Given the description of an element on the screen output the (x, y) to click on. 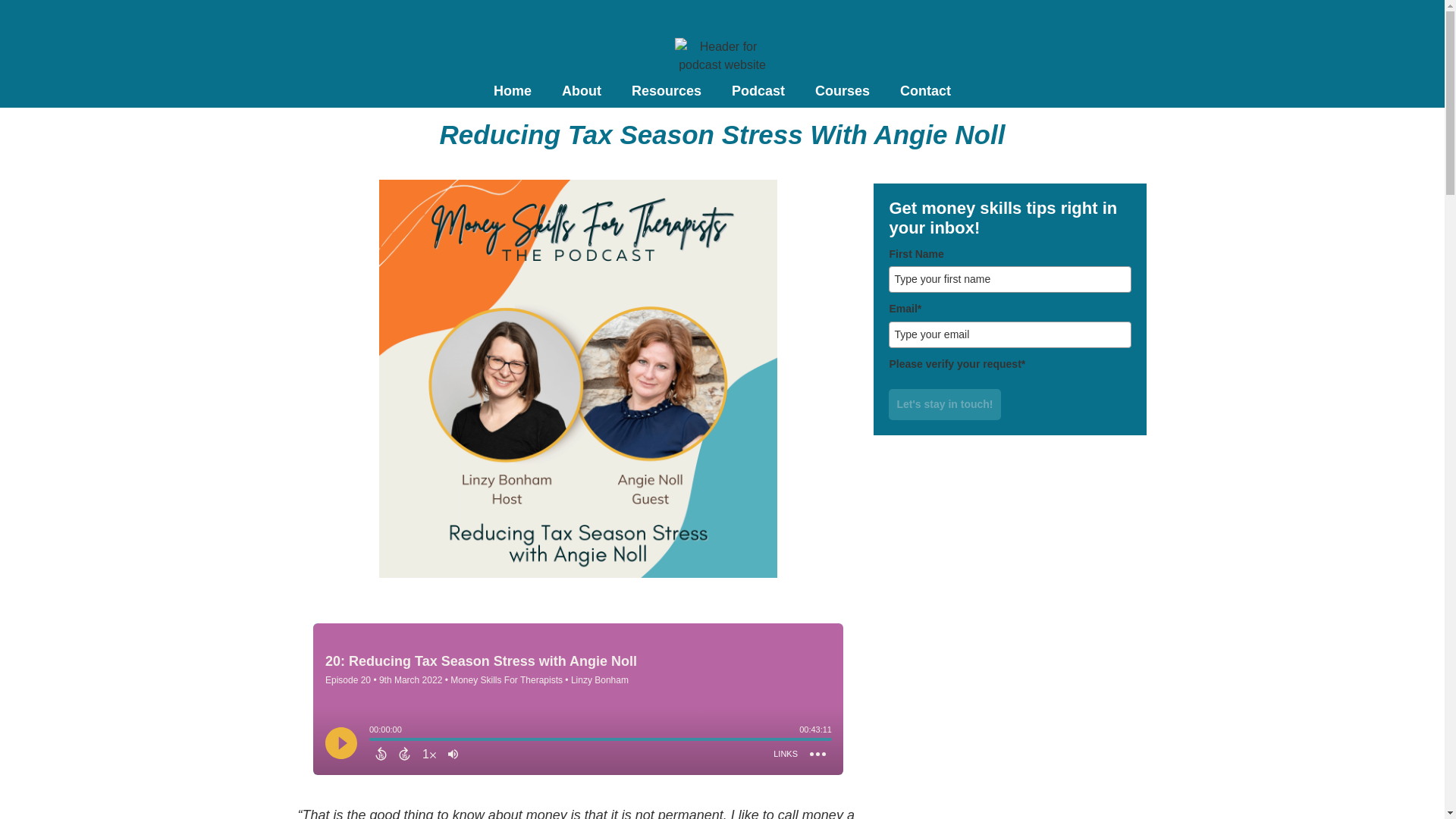
About (581, 90)
Contact (925, 90)
Header for podcast website (722, 55)
Courses (842, 90)
Podcast (757, 90)
Resources (665, 90)
Home (513, 90)
Let's stay in touch! (944, 404)
